Given the description of an element on the screen output the (x, y) to click on. 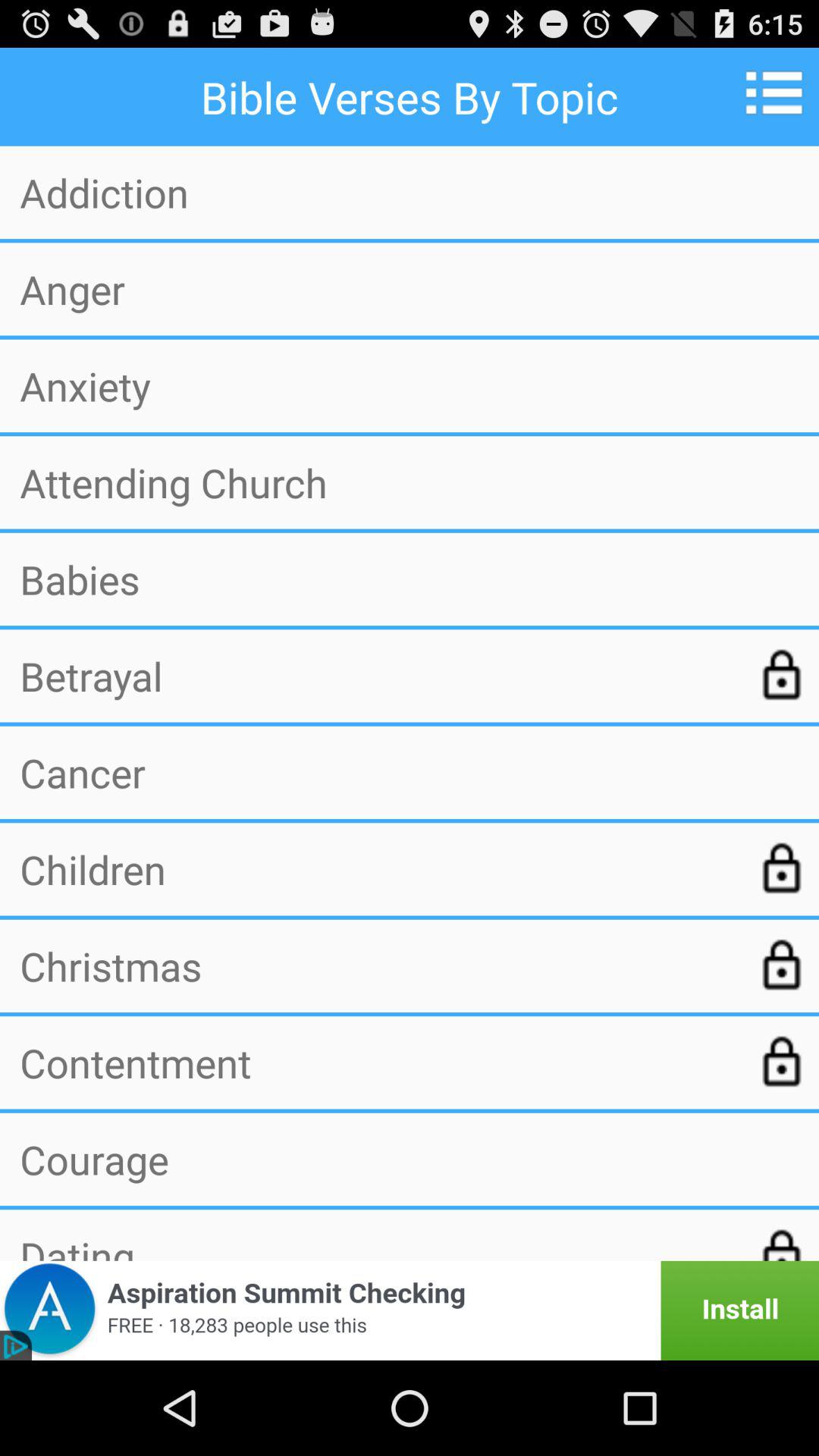
launch the icon at the top right corner (779, 92)
